Given the description of an element on the screen output the (x, y) to click on. 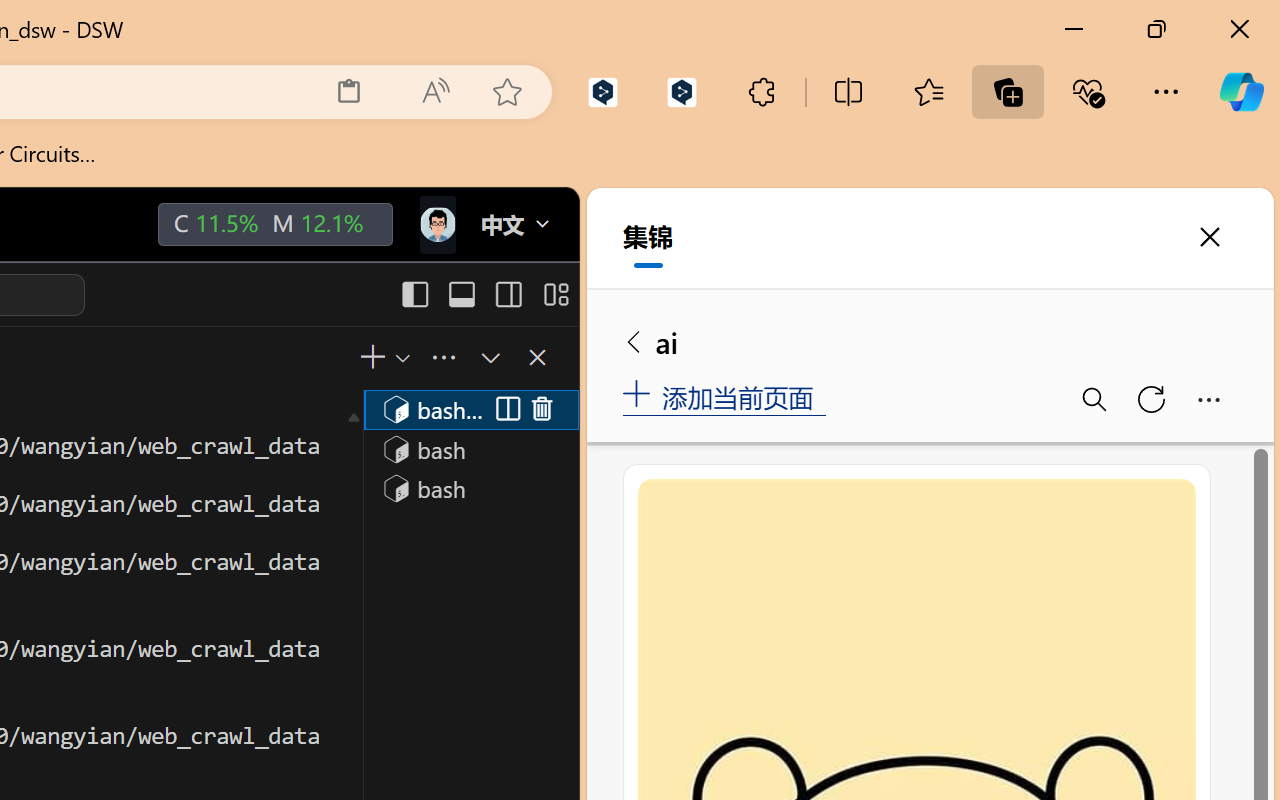
Czech (991, 302)
Czech (detected) (1037, 97)
Swap "from" and "to" languages. (1065, 273)
